Given the description of an element on the screen output the (x, y) to click on. 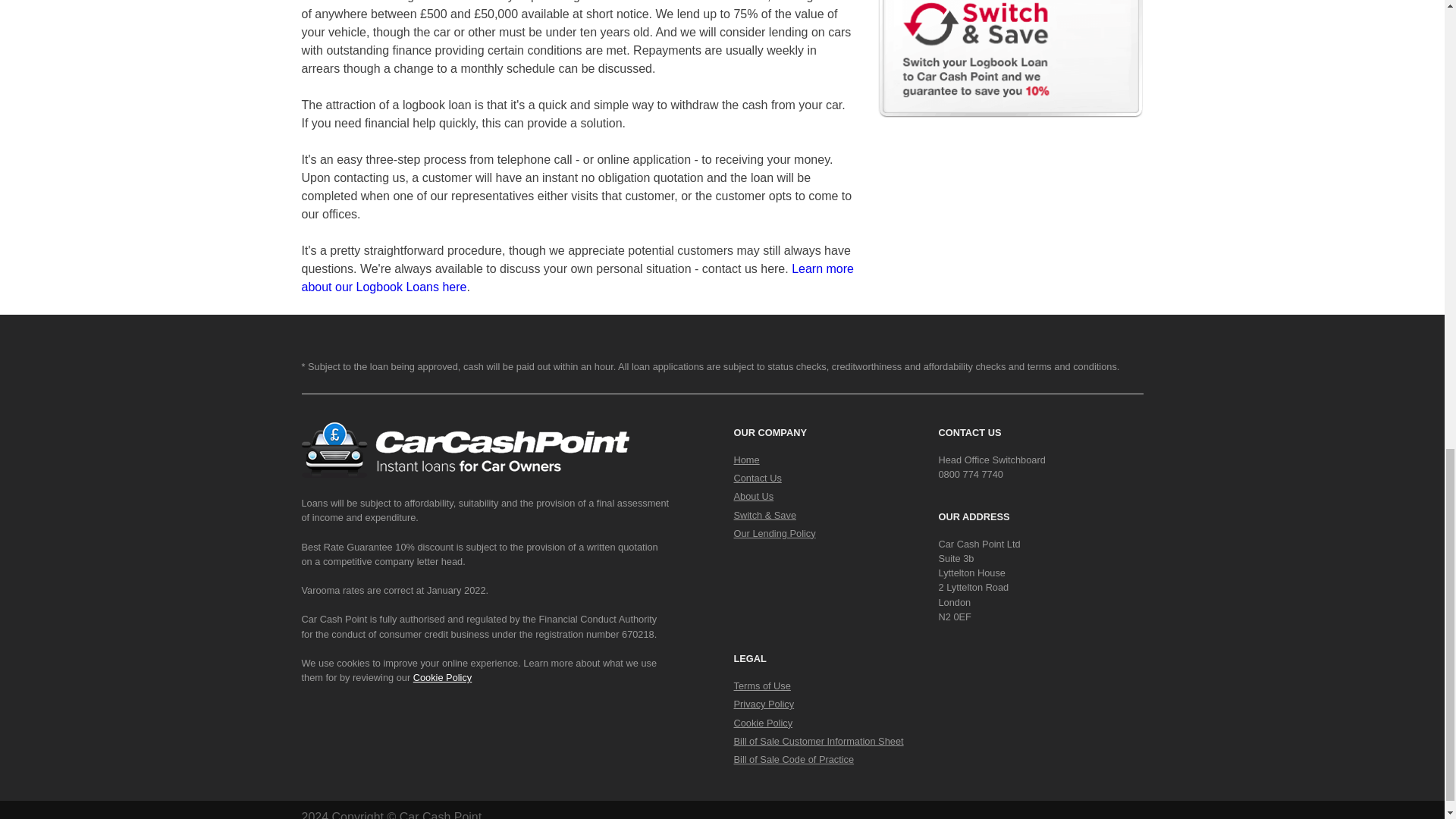
Cookie Policy (763, 722)
Learn more about our Logbook Loans here (577, 277)
Our Lending Policy (774, 532)
Contact Us (757, 478)
About Us (753, 496)
Home (746, 460)
Cookie Policy (442, 677)
Privacy Policy (763, 704)
Bill of Sale Customer Information Sheet (818, 740)
Terms of Use (761, 685)
